Given the description of an element on the screen output the (x, y) to click on. 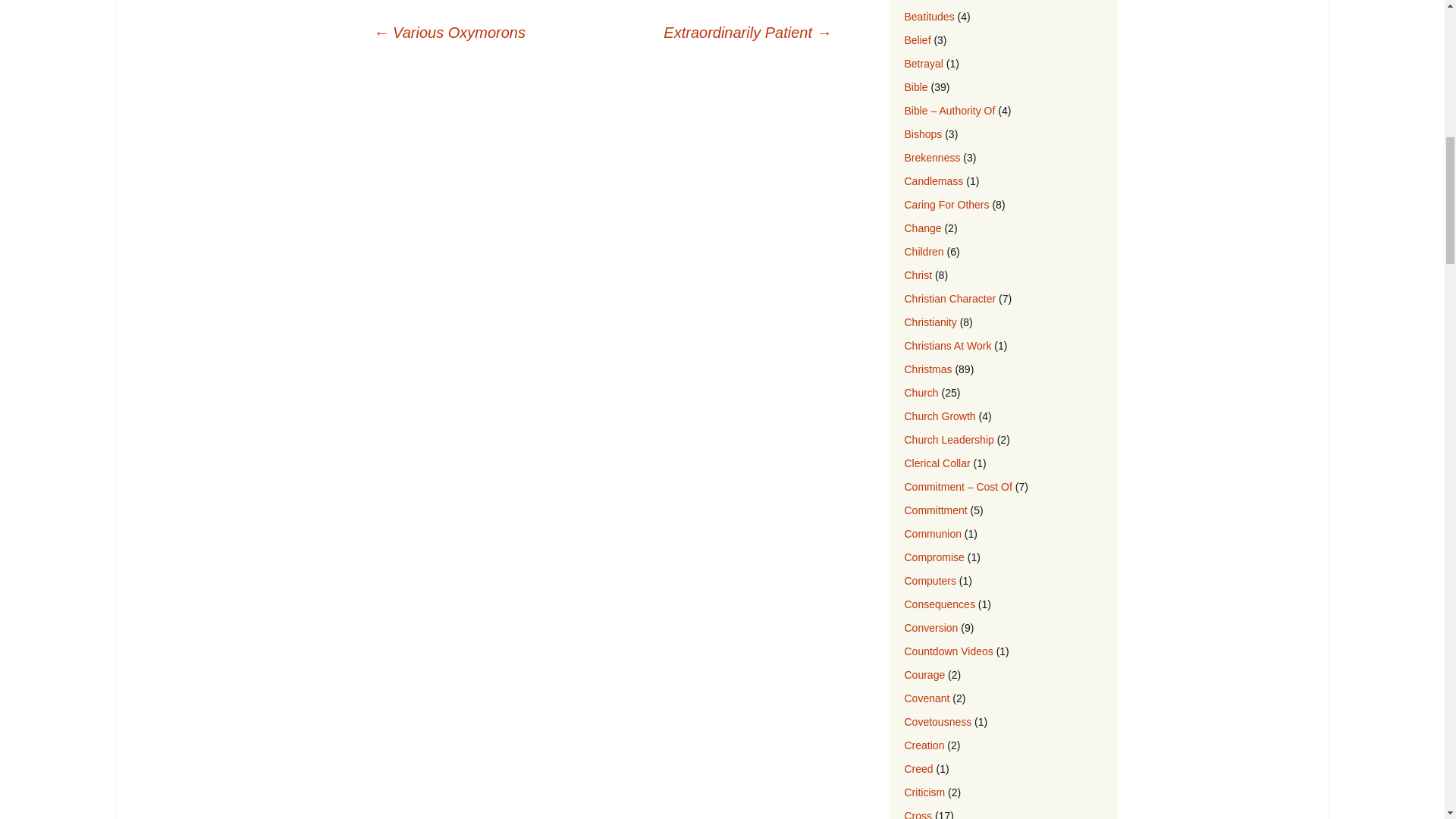
Bible (915, 87)
Betrayal (923, 63)
Beatitudes (928, 16)
Belief (917, 39)
